Given the description of an element on the screen output the (x, y) to click on. 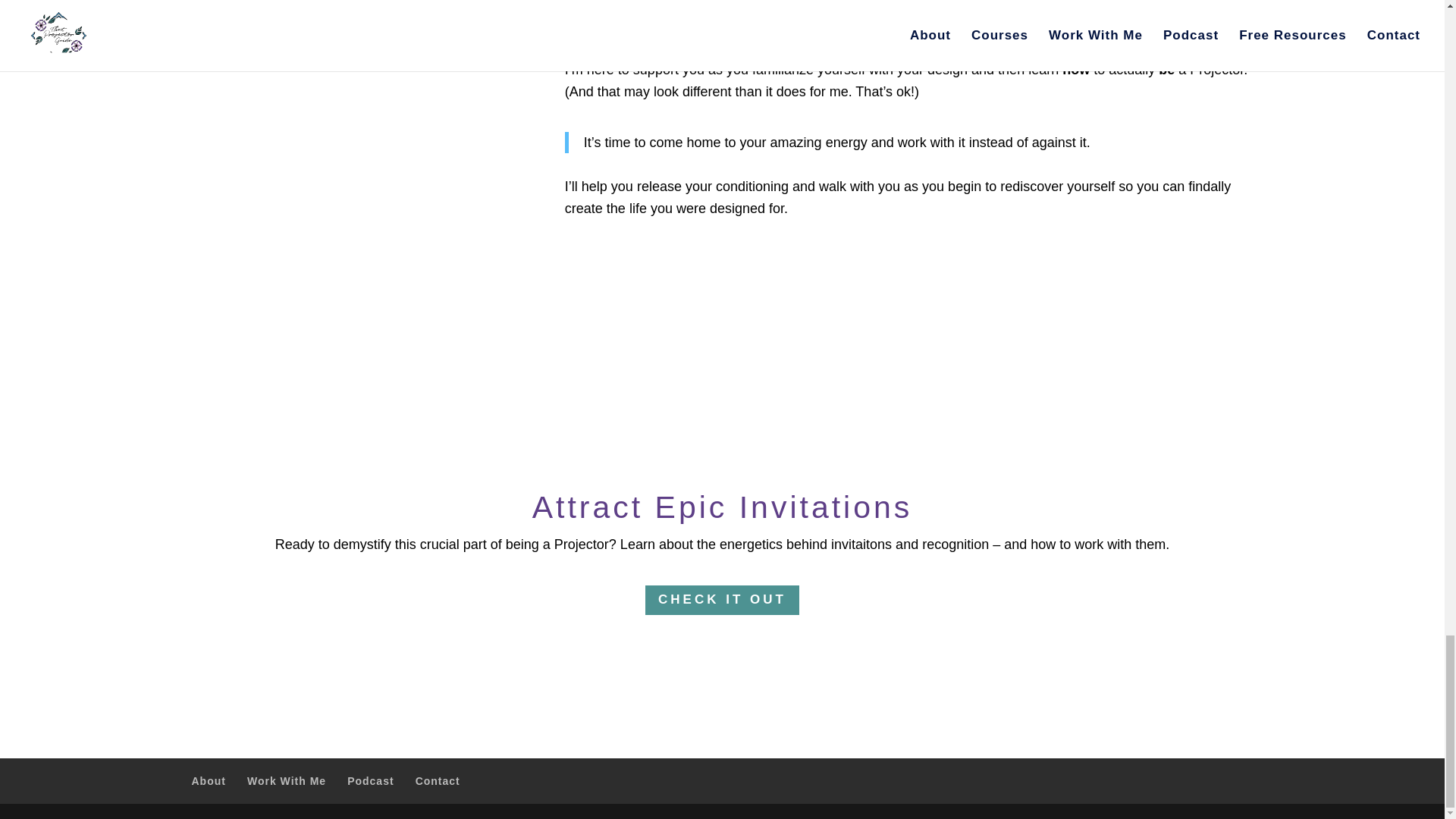
About (207, 780)
CHECK IT OUT (722, 600)
Podcast (370, 780)
Ardelia Lee Standing Desk Cropped copy (347, 165)
Work With Me (286, 780)
Contact (437, 780)
